Given the description of an element on the screen output the (x, y) to click on. 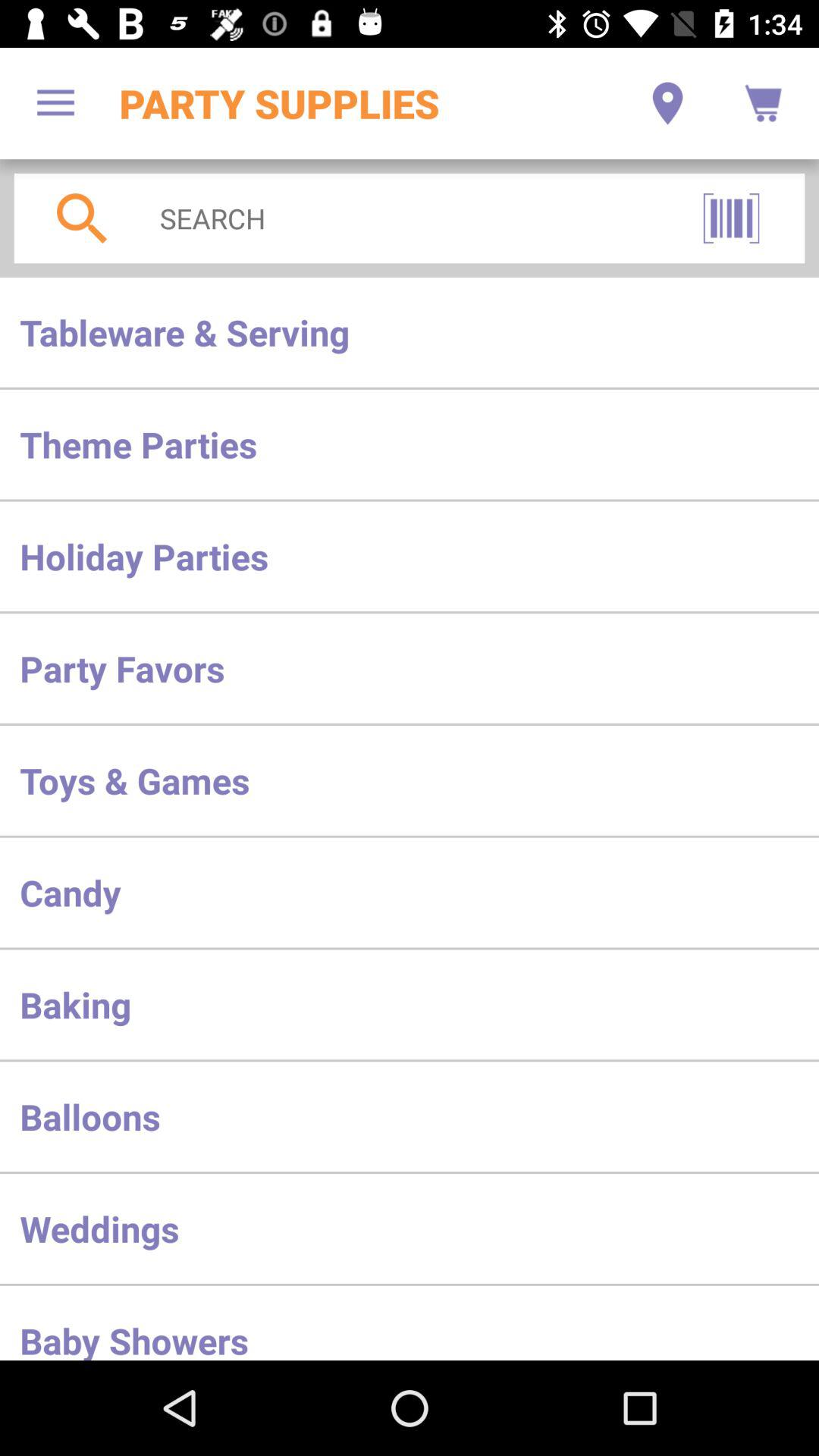
open the holiday parties icon (409, 556)
